Given the description of an element on the screen output the (x, y) to click on. 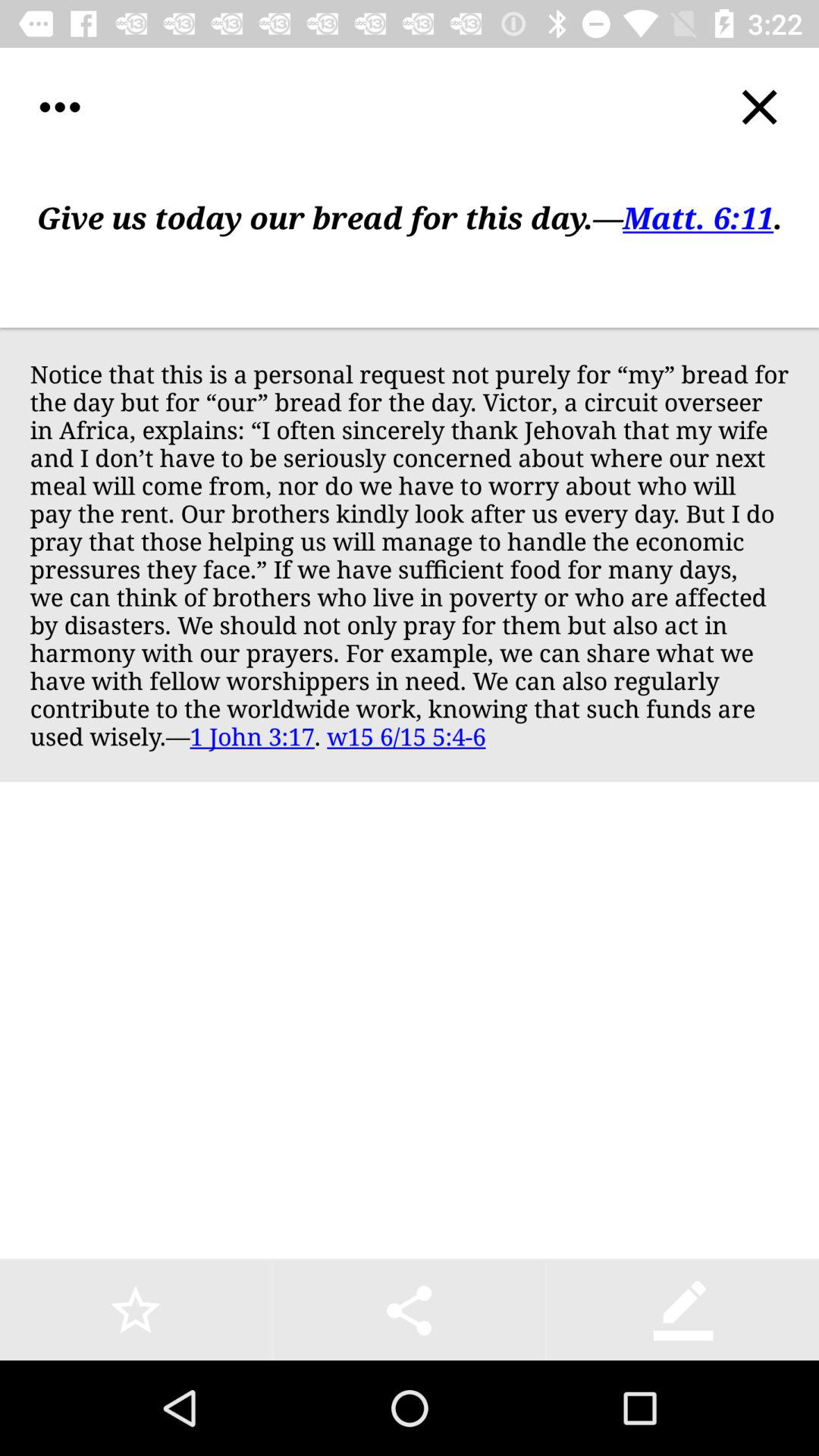
open app above the give us today (59, 107)
